Given the description of an element on the screen output the (x, y) to click on. 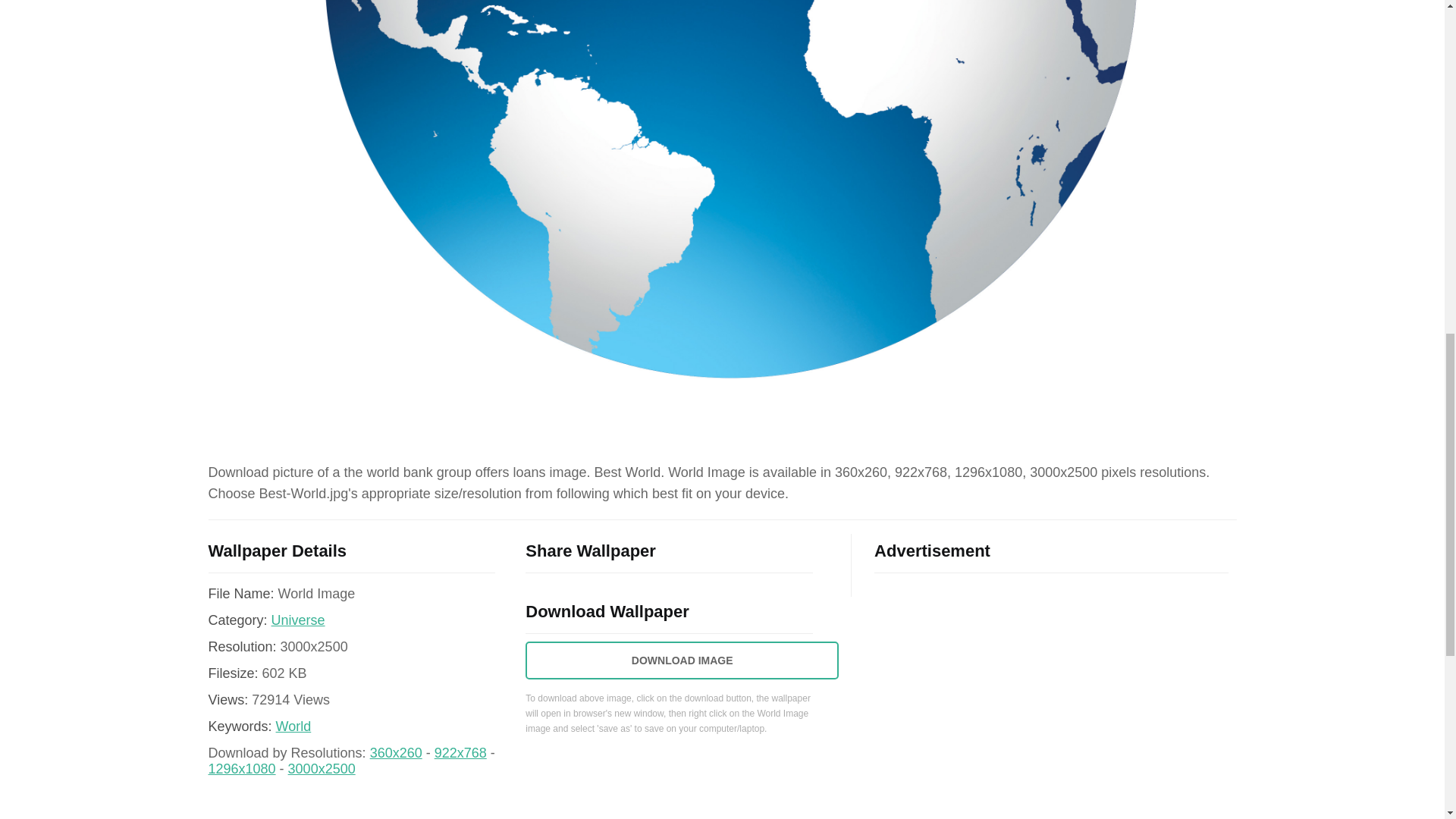
View all posts in Universe (297, 620)
